Given the description of an element on the screen output the (x, y) to click on. 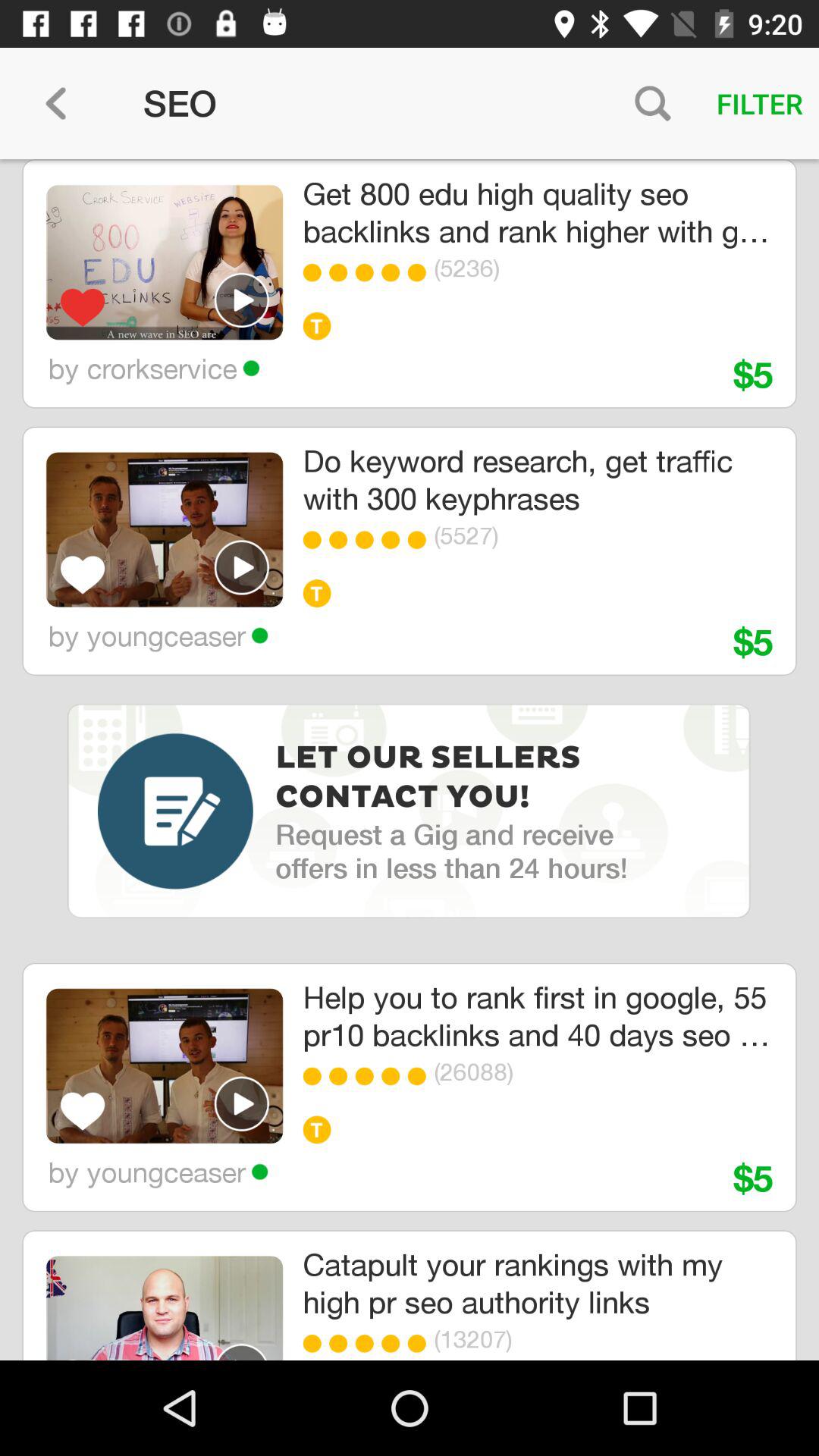
open the item below by youngceaser icon (432, 777)
